Given the description of an element on the screen output the (x, y) to click on. 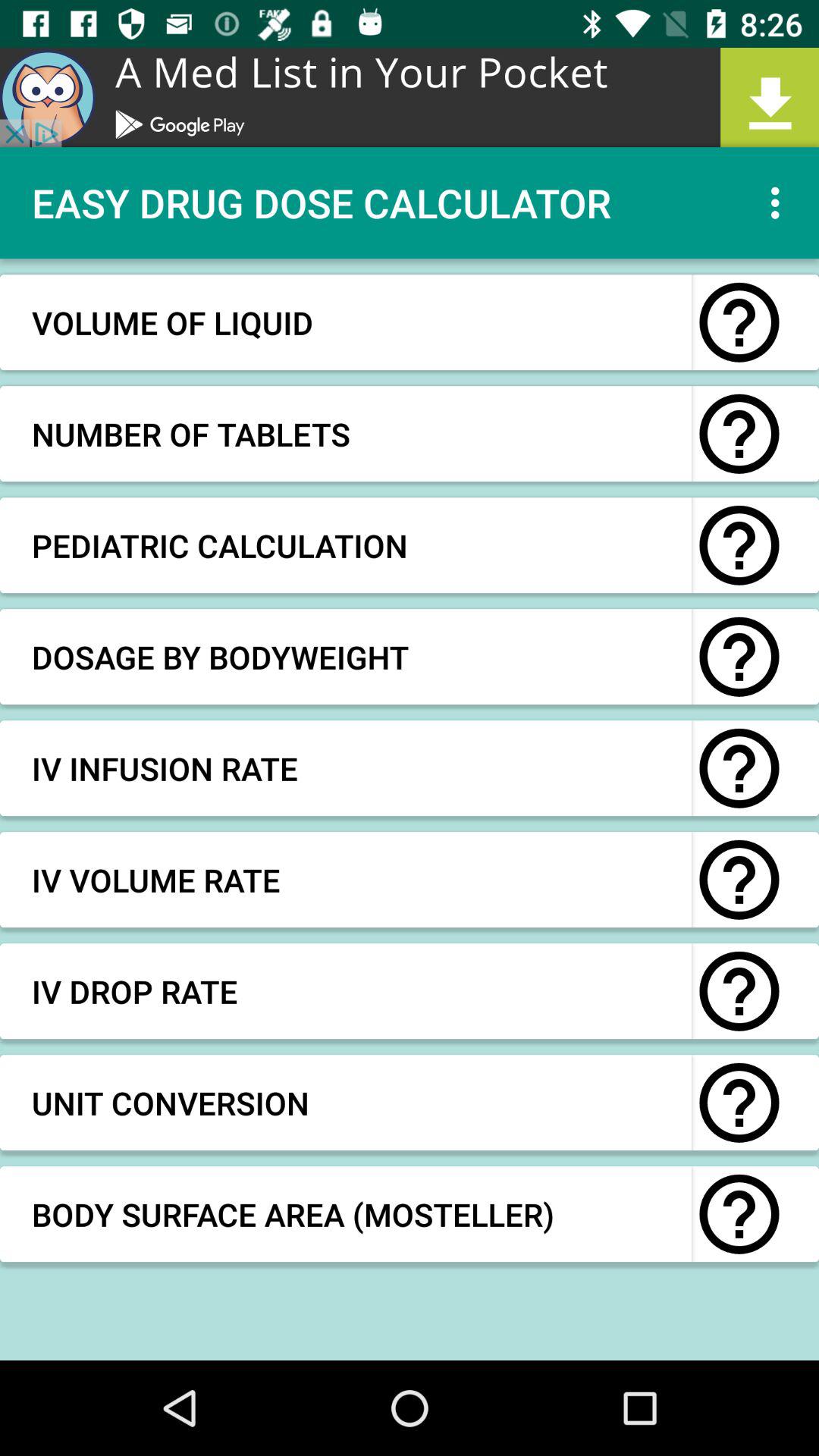
question option (739, 433)
